Given the description of an element on the screen output the (x, y) to click on. 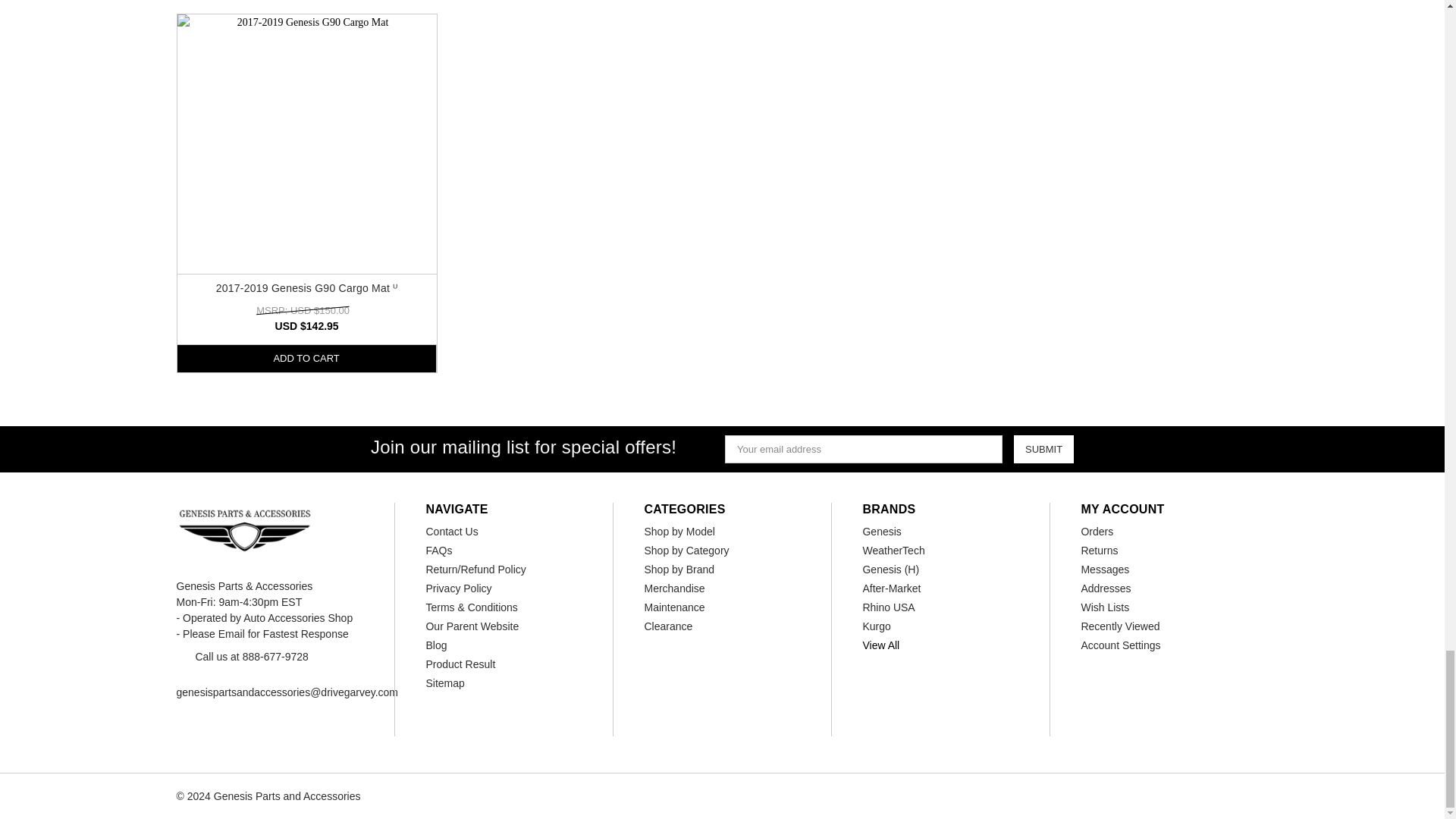
Submit (1043, 448)
